Given the description of an element on the screen output the (x, y) to click on. 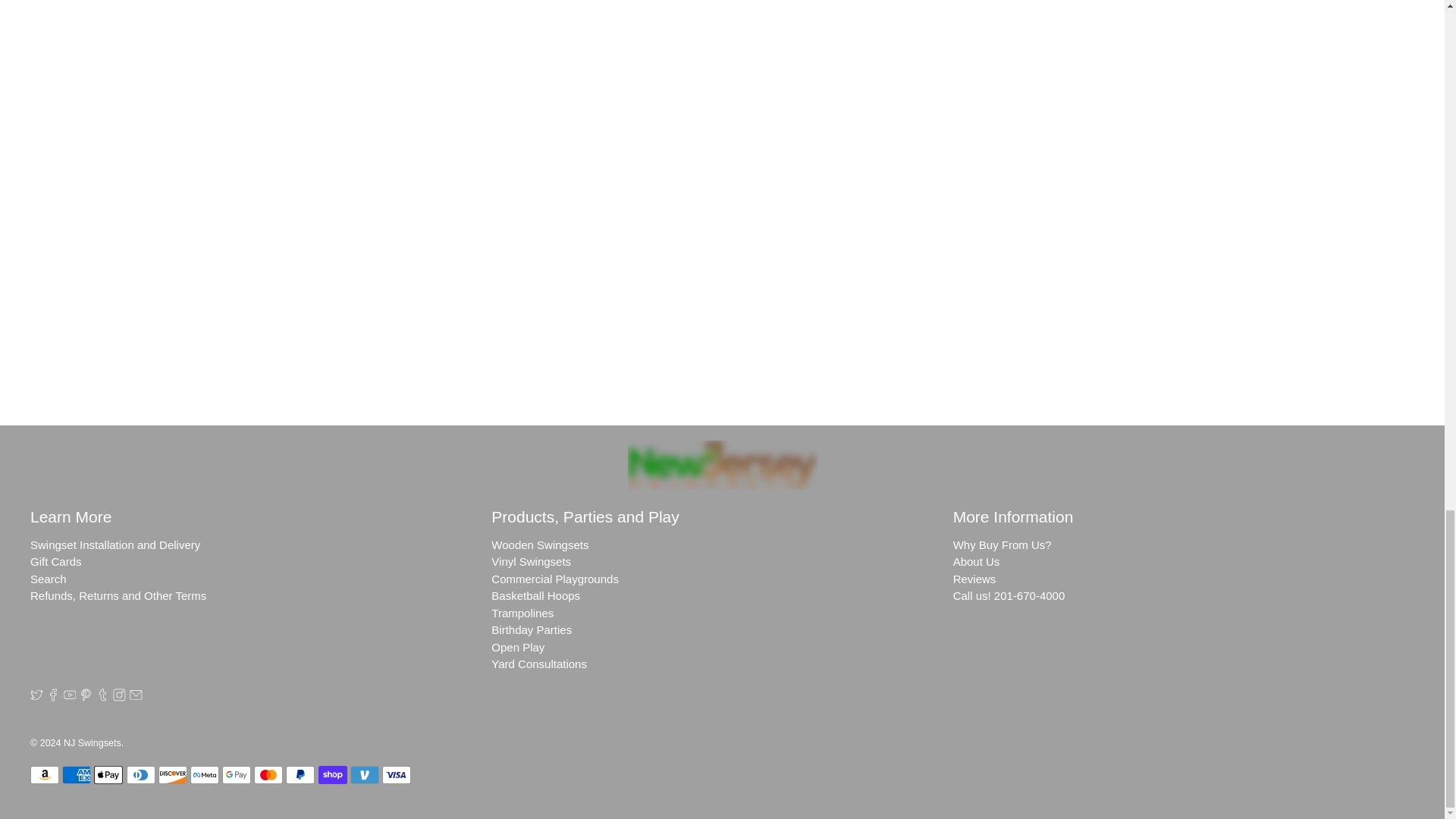
NJ Swingsets on Instagram (119, 697)
American Express (76, 774)
Amazon (44, 774)
NJ Swingsets (721, 464)
NJ Swingsets on Twitter (36, 697)
NJ Swingsets on YouTube (70, 697)
Discover (172, 774)
Email NJ Swingsets (135, 697)
NJ Swingsets on Facebook (52, 697)
Apple Pay (108, 774)
Diners Club (140, 774)
NJ Swingsets on Tumblr (102, 697)
NJ Swingsets on Pinterest (86, 697)
